Given the description of an element on the screen output the (x, y) to click on. 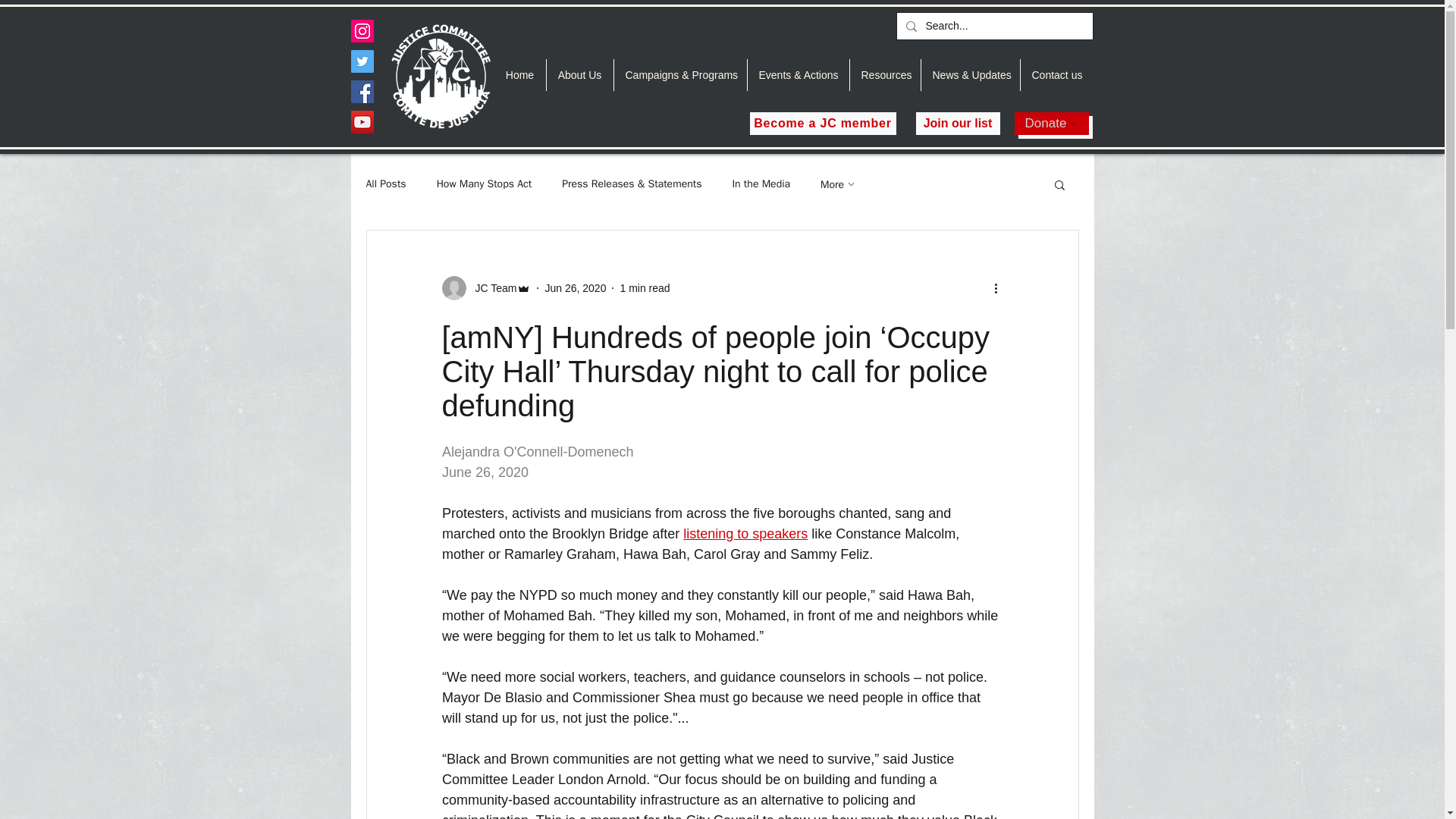
Become a JC member (822, 123)
JC Team (486, 288)
In the Media (761, 183)
1 min read (644, 287)
Contact us (1056, 74)
Join our list (957, 123)
All Posts (385, 183)
How Many Stops Act (484, 183)
Donate (1051, 123)
JC Team (490, 288)
Jun 26, 2020 (574, 287)
About Us (579, 74)
Resources (884, 74)
Home (520, 74)
